Given the description of an element on the screen output the (x, y) to click on. 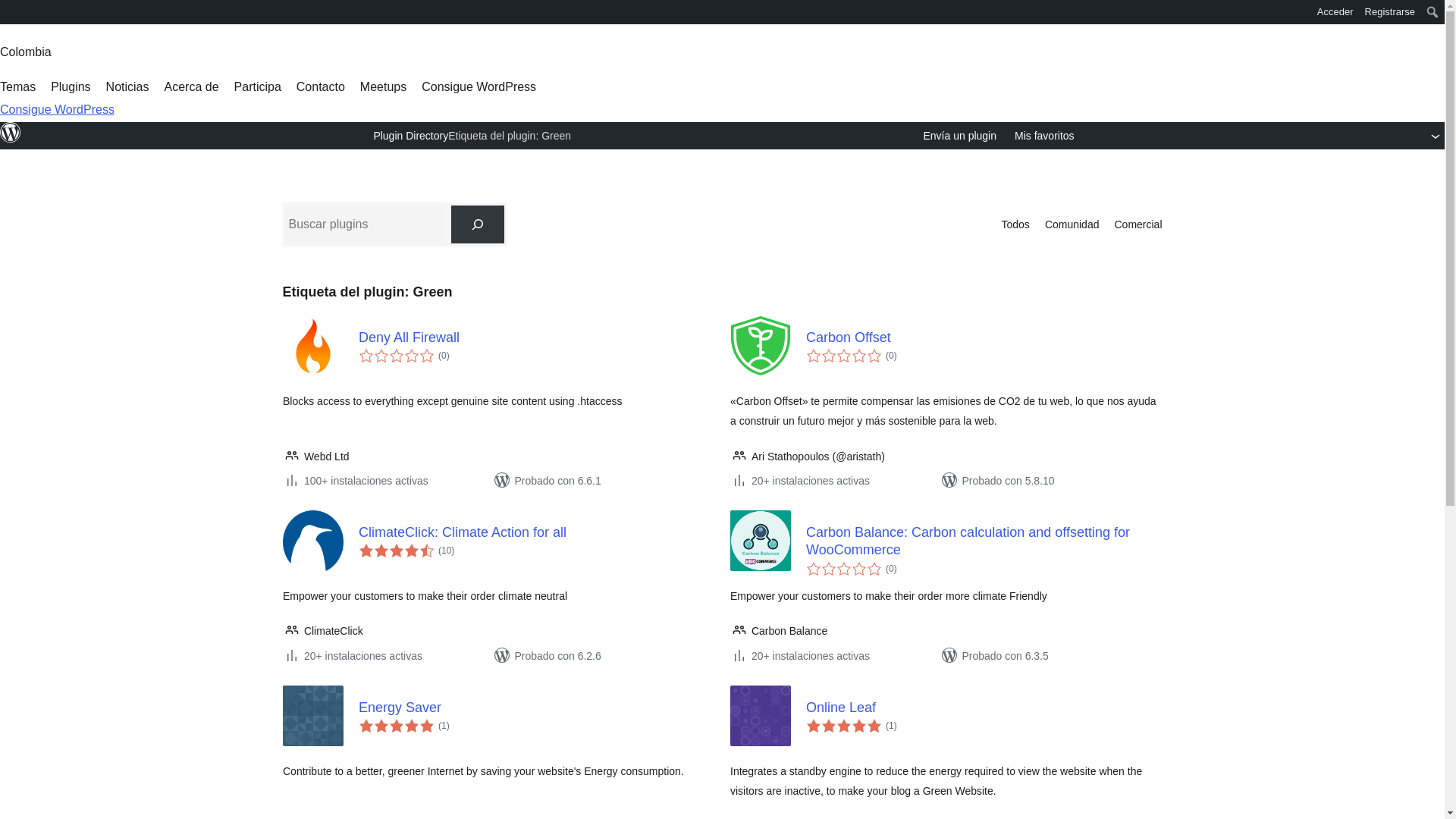
WordPress.org (10, 10)
WordPress.org (10, 132)
Todos (1015, 224)
Carbon Offset (983, 337)
Acerca de (191, 87)
Energy Saver (536, 707)
ClimateClick: Climate Action for all (536, 532)
WordPress.org (10, 139)
Mis favoritos (1044, 135)
Buscar (16, 13)
